Given the description of an element on the screen output the (x, y) to click on. 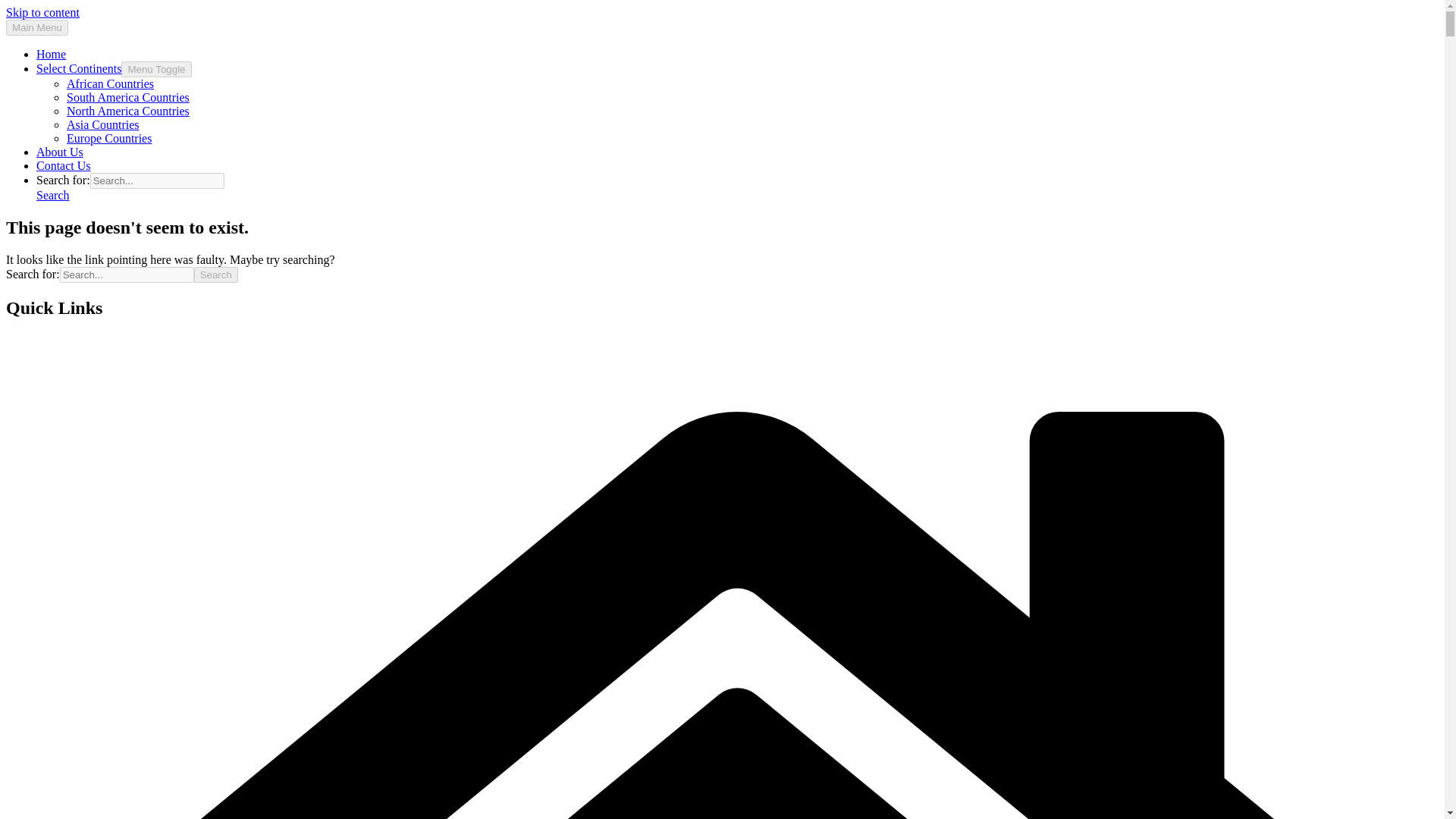
Home (50, 53)
African Countries (110, 83)
Search (52, 195)
Select Continents (78, 68)
Asia Countries (102, 124)
Europe Countries (108, 137)
Skip to content (42, 11)
Search (215, 274)
North America Countries (127, 110)
Main Menu (36, 27)
Menu Toggle (155, 68)
Search (215, 274)
Search (215, 274)
About Us (59, 151)
Contact Us (63, 164)
